Given the description of an element on the screen output the (x, y) to click on. 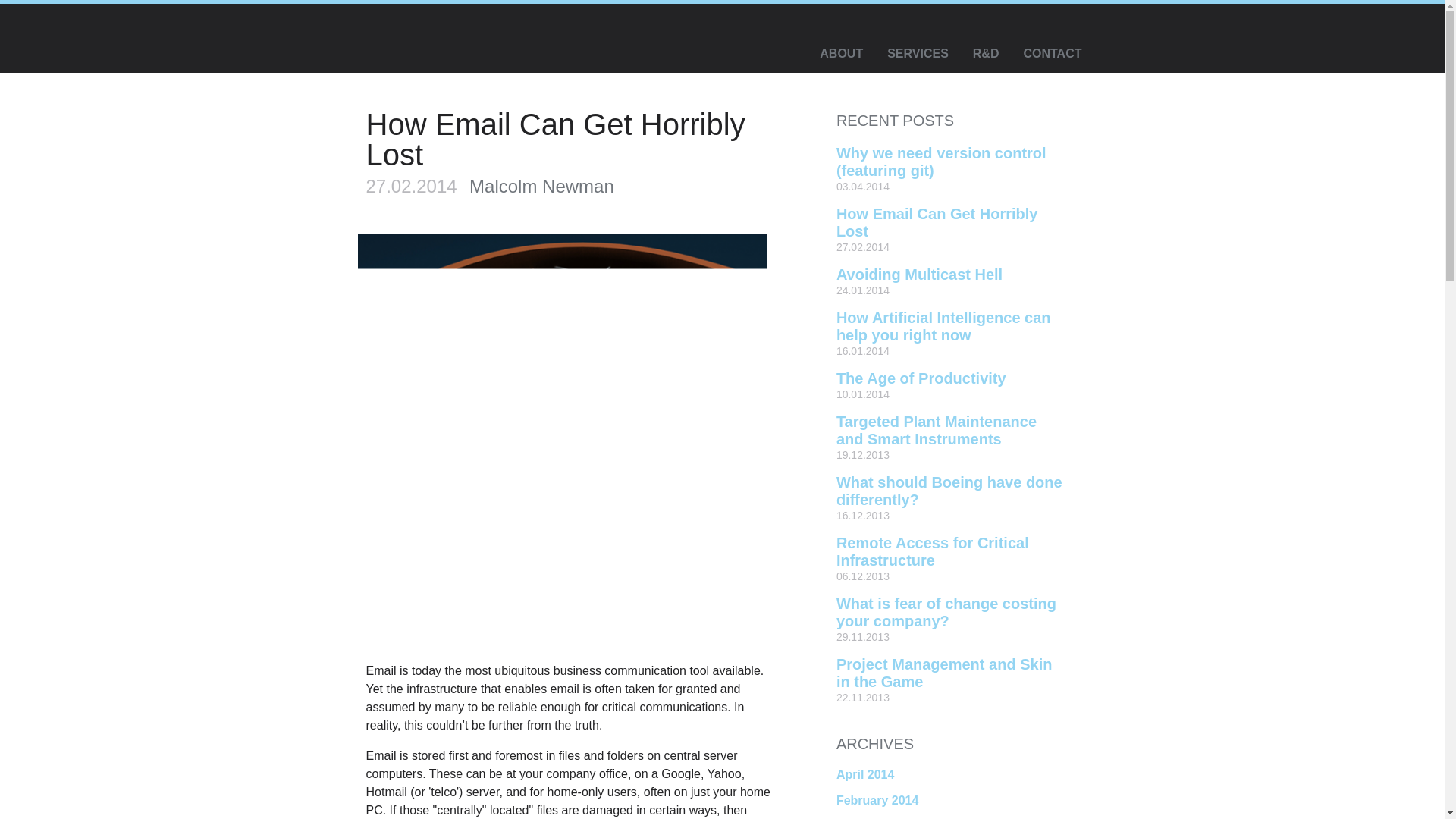
What should Boeing have done differently? (948, 490)
CONTACT (1051, 53)
What is fear of change costing your company? (946, 612)
Project Management and Skin in the Game (943, 673)
Remote Access for Critical Infrastructure (932, 551)
April 2014 (864, 774)
The Age of Productivity (920, 378)
Exigen (455, 39)
ABOUT (841, 53)
How Artificial Intelligence can help you right now (943, 326)
February 2014 (876, 799)
Avoiding Multicast Hell (919, 274)
SERVICES (917, 53)
Targeted Plant Maintenance and Smart Instruments (935, 430)
How Email Can Get Horribly Lost (936, 222)
